Given the description of an element on the screen output the (x, y) to click on. 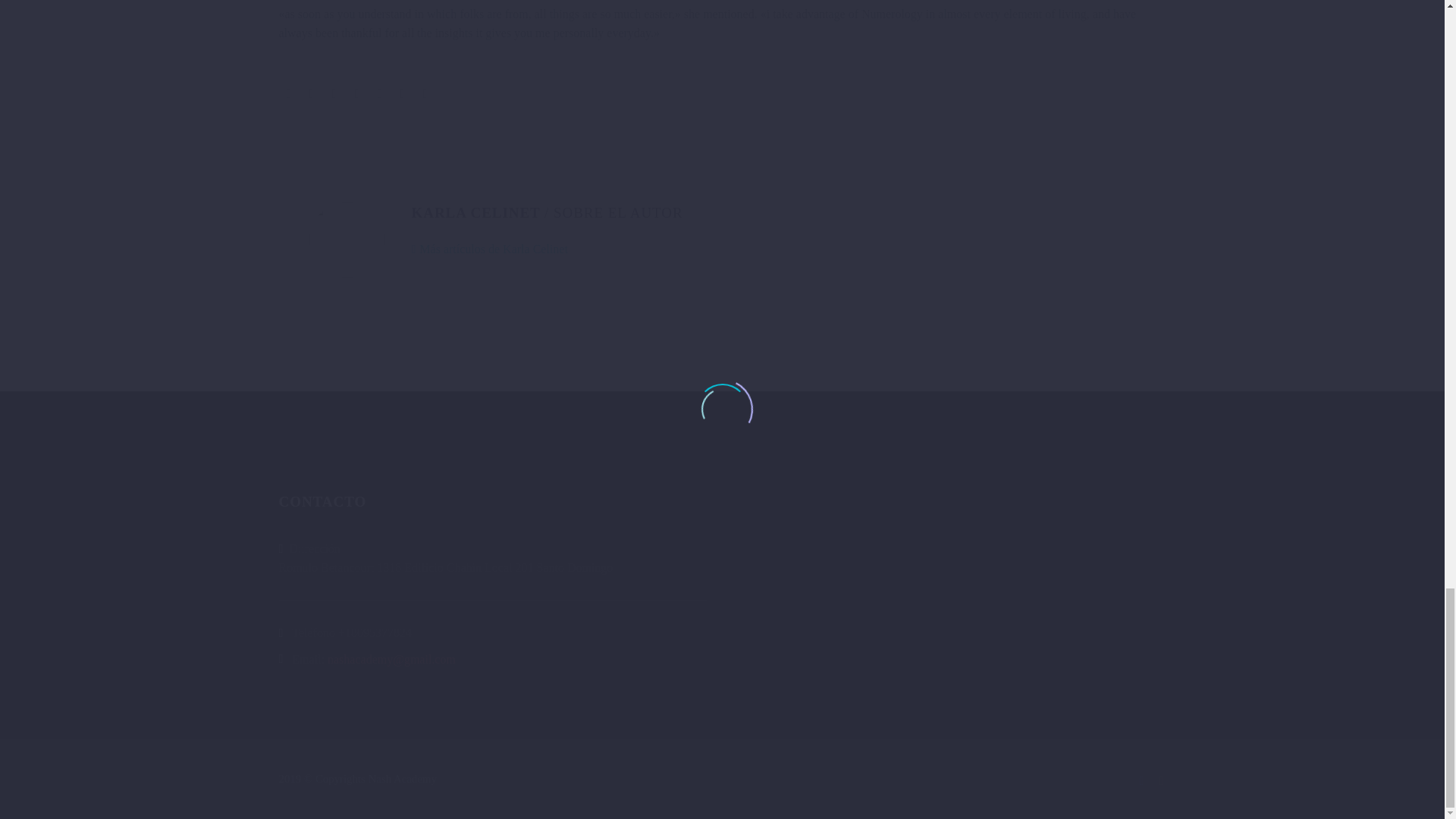
Twitter (310, 93)
Tumblr (378, 93)
Instagram (1161, 780)
Facebook (1141, 780)
LinkedIn (401, 93)
Google Plus (333, 93)
Reddit (424, 93)
Facebook (288, 93)
Pinterest (356, 93)
